Given the description of an element on the screen output the (x, y) to click on. 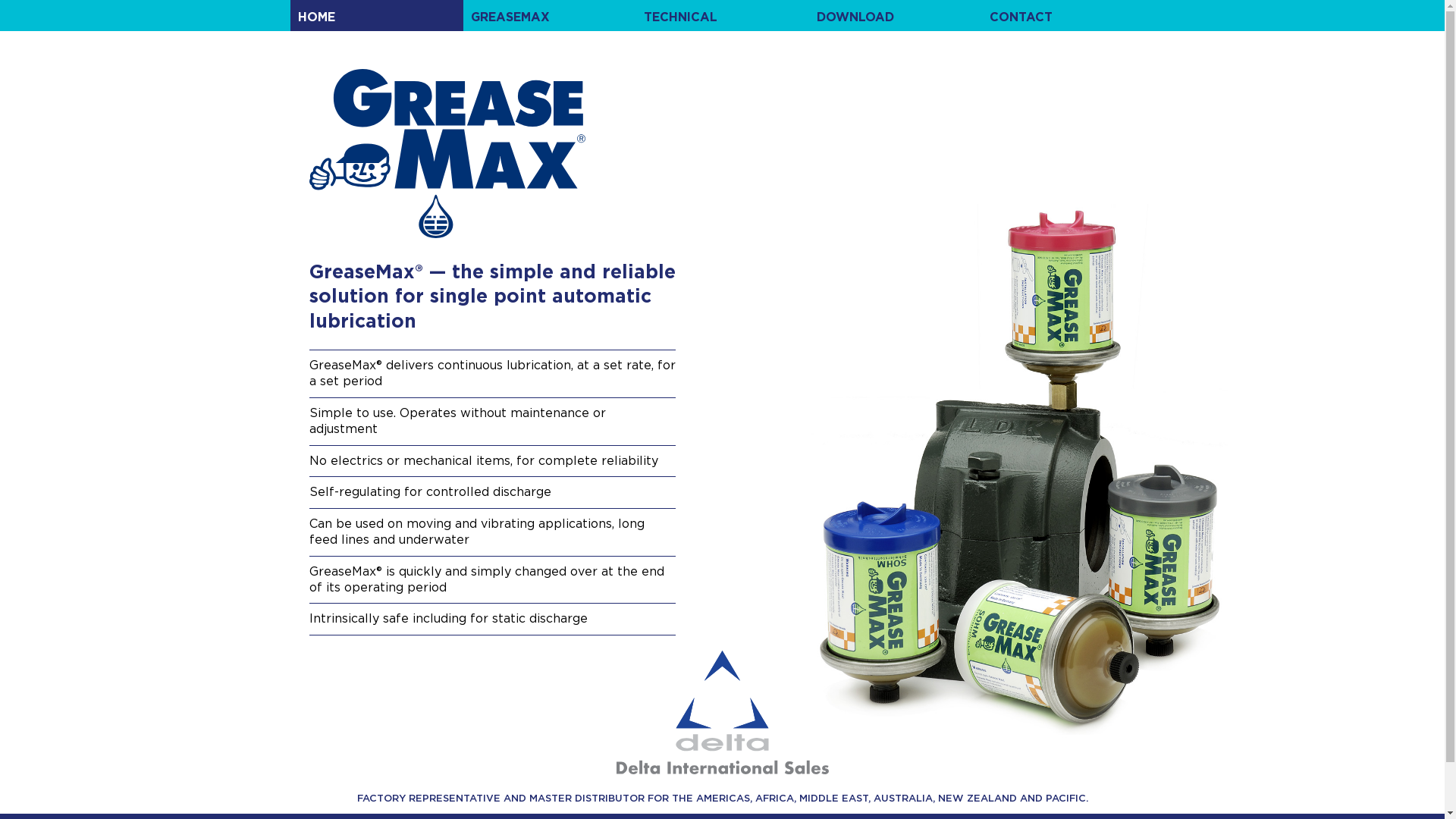
GREASEMAX Element type: text (548, 15)
TECHNICAL Element type: text (721, 15)
CONTACT Element type: text (1067, 15)
HOME Element type: text (375, 15)
DOWNLOAD Element type: text (894, 15)
